Given the description of an element on the screen output the (x, y) to click on. 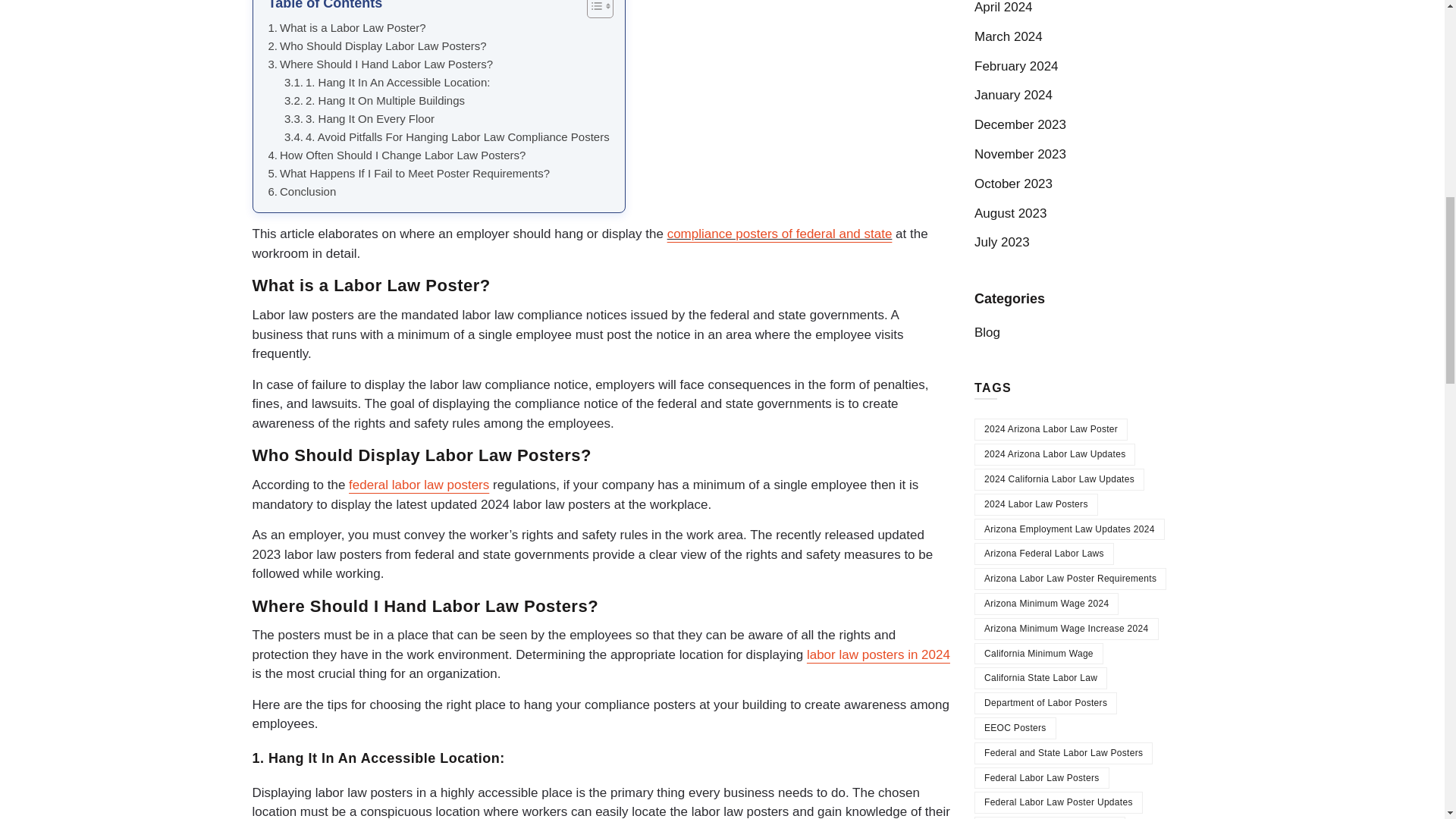
Who Should Display Labor Law Posters? (376, 45)
1. Hang It In An Accessible Location: (386, 82)
3. Hang It On Every Floor (358, 118)
What Happens If I Fail to Meet Poster Requirements? (408, 173)
How Often Should I Change Labor Law Posters? (396, 155)
What is a Labor Law Poster? (346, 27)
Conclusion (301, 191)
Where Should I Hand Labor Law Posters? (380, 64)
4. Avoid Pitfalls For Hanging Labor Law Compliance Posters (446, 136)
2. Hang It On Multiple Buildings (373, 100)
What is a Labor Law Poster? (346, 27)
Who Should Display Labor Law Posters? (376, 45)
